Given the description of an element on the screen output the (x, y) to click on. 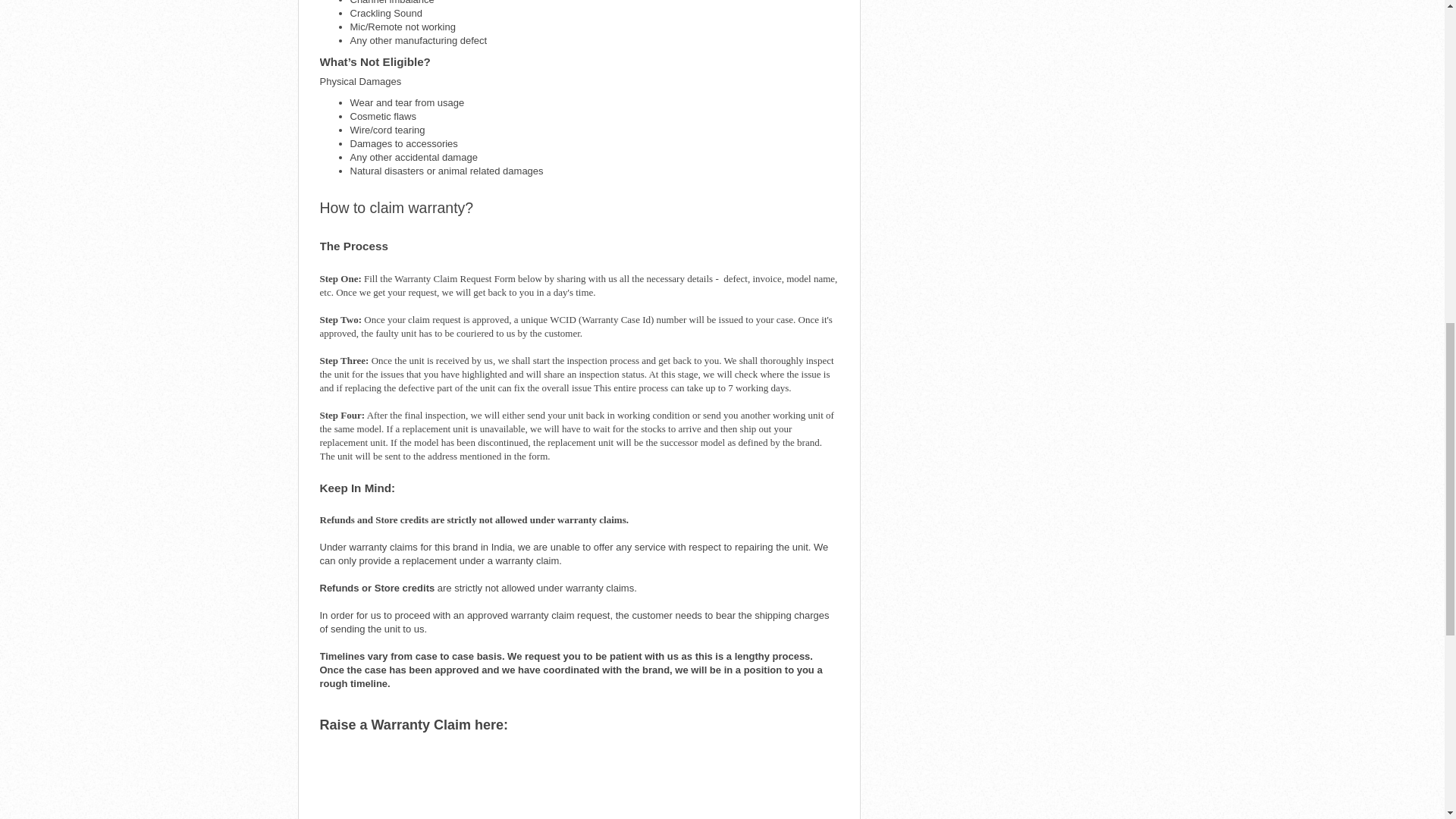
ORIVETI Warranty Claim Form (579, 776)
